Given the description of an element on the screen output the (x, y) to click on. 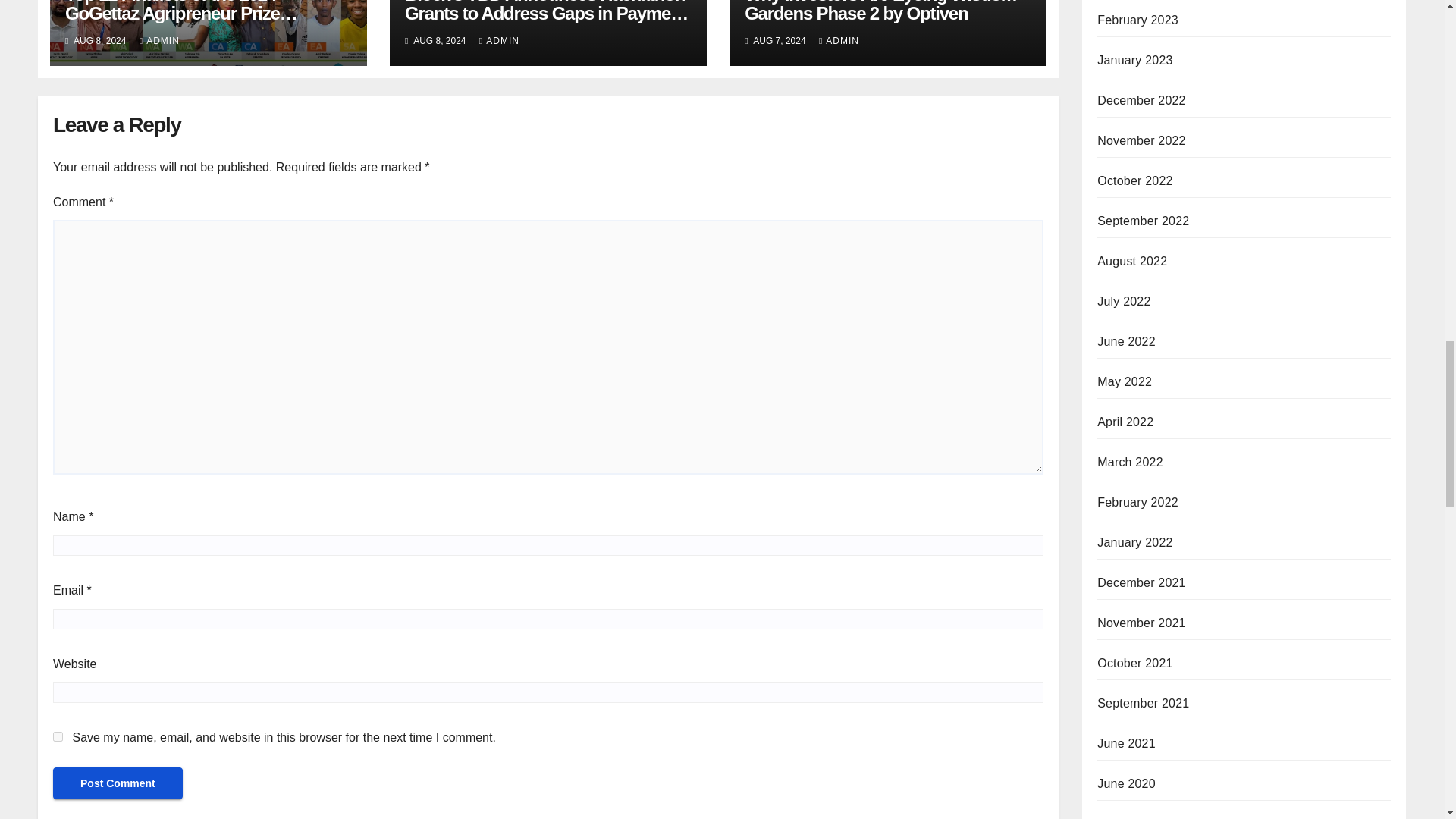
Post Comment (117, 783)
yes (57, 737)
